Given the description of an element on the screen output the (x, y) to click on. 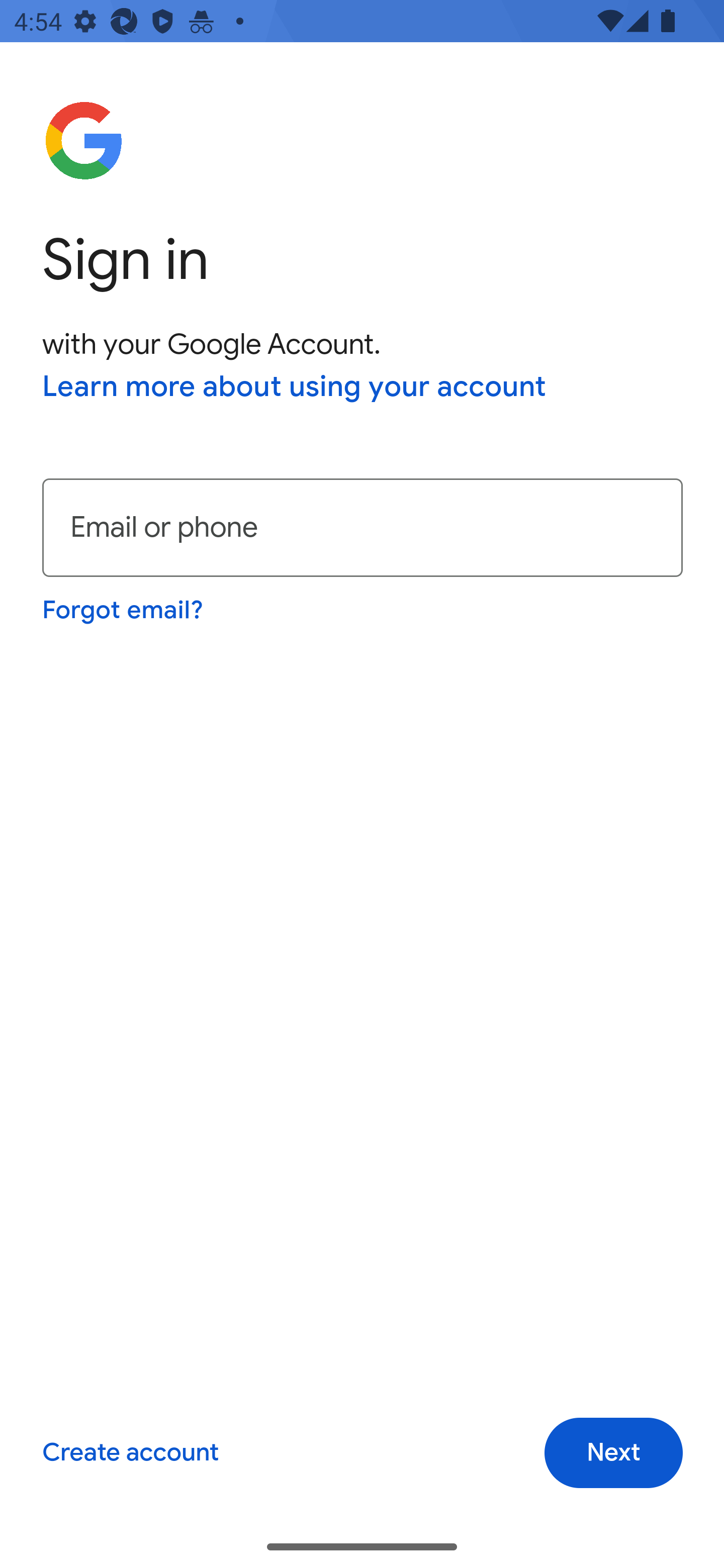
Learn more about using your account (294, 388)
Forgot email? (123, 609)
Next (613, 1453)
Create account (129, 1453)
